Given the description of an element on the screen output the (x, y) to click on. 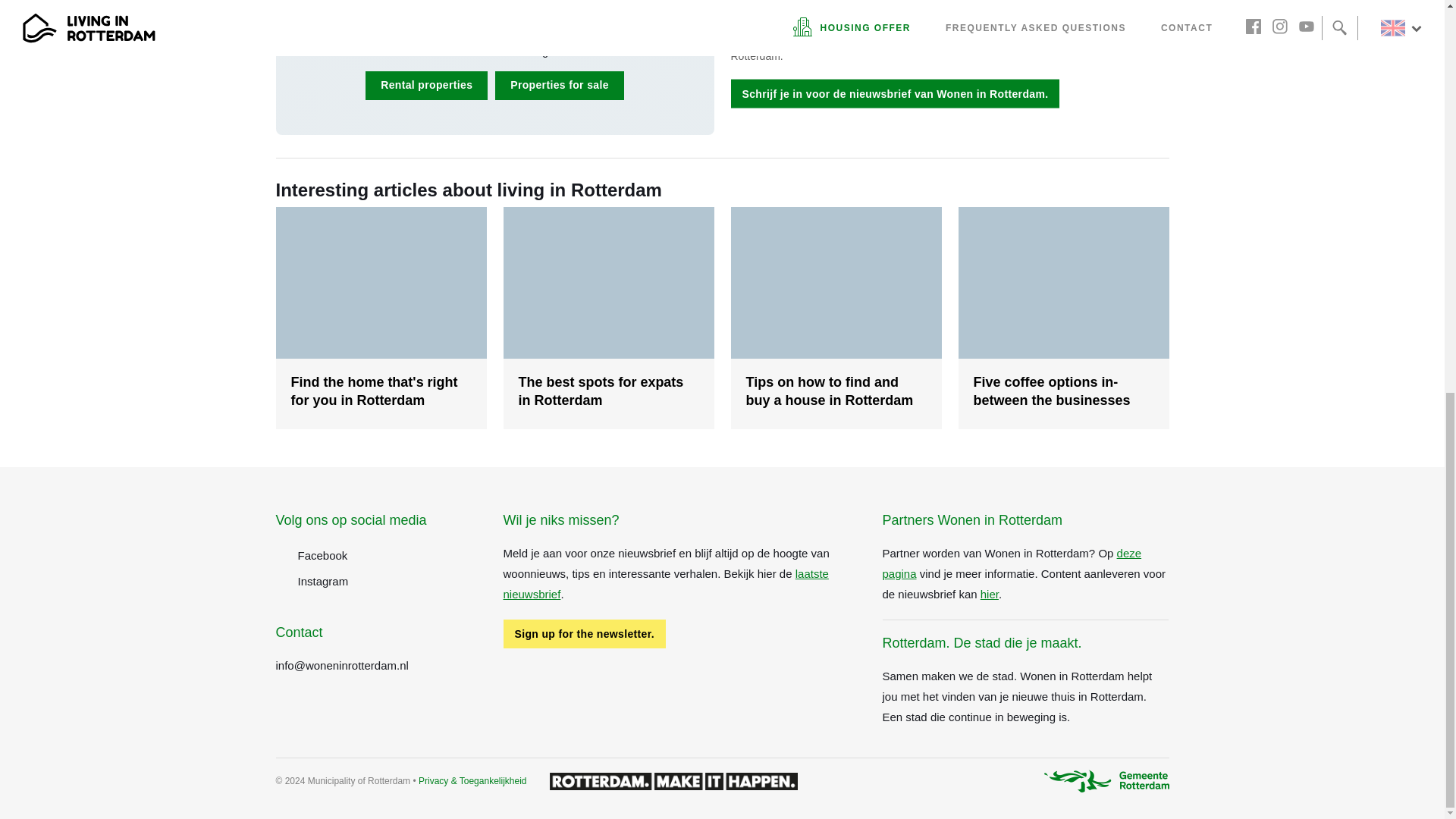
Schrijf je in voor de nieuwsbrief van Wonen in Rotterdam. (894, 93)
Five coffee options in-between the businesses (1063, 318)
Find the home that's right for you in Rotterdam (381, 318)
Rental properties (426, 85)
Facebook (381, 555)
The best spots for expats in Rotterdam (608, 318)
Tips on how to find and buy a house in Rotterdam (836, 318)
Properties for sale (559, 85)
